Given the description of an element on the screen output the (x, y) to click on. 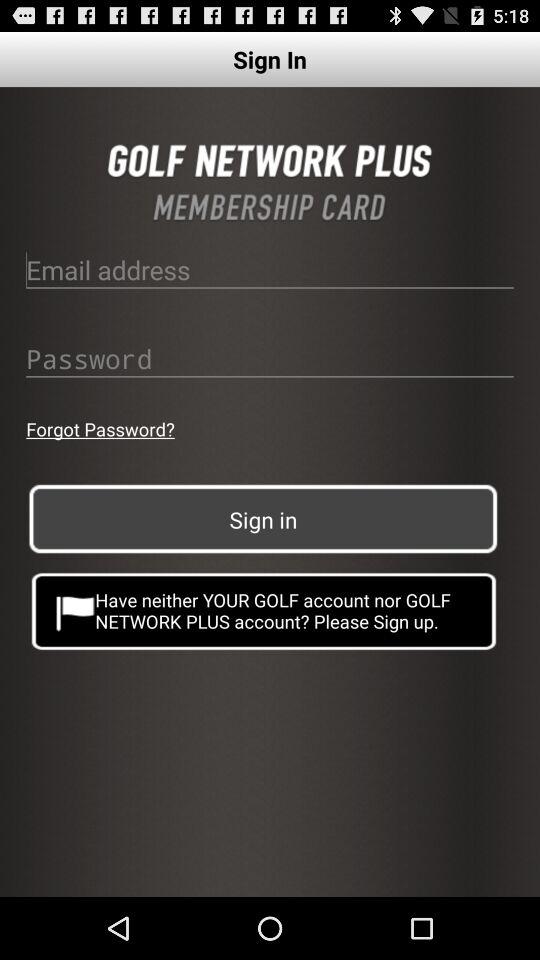
area to input password (269, 357)
